Given the description of an element on the screen output the (x, y) to click on. 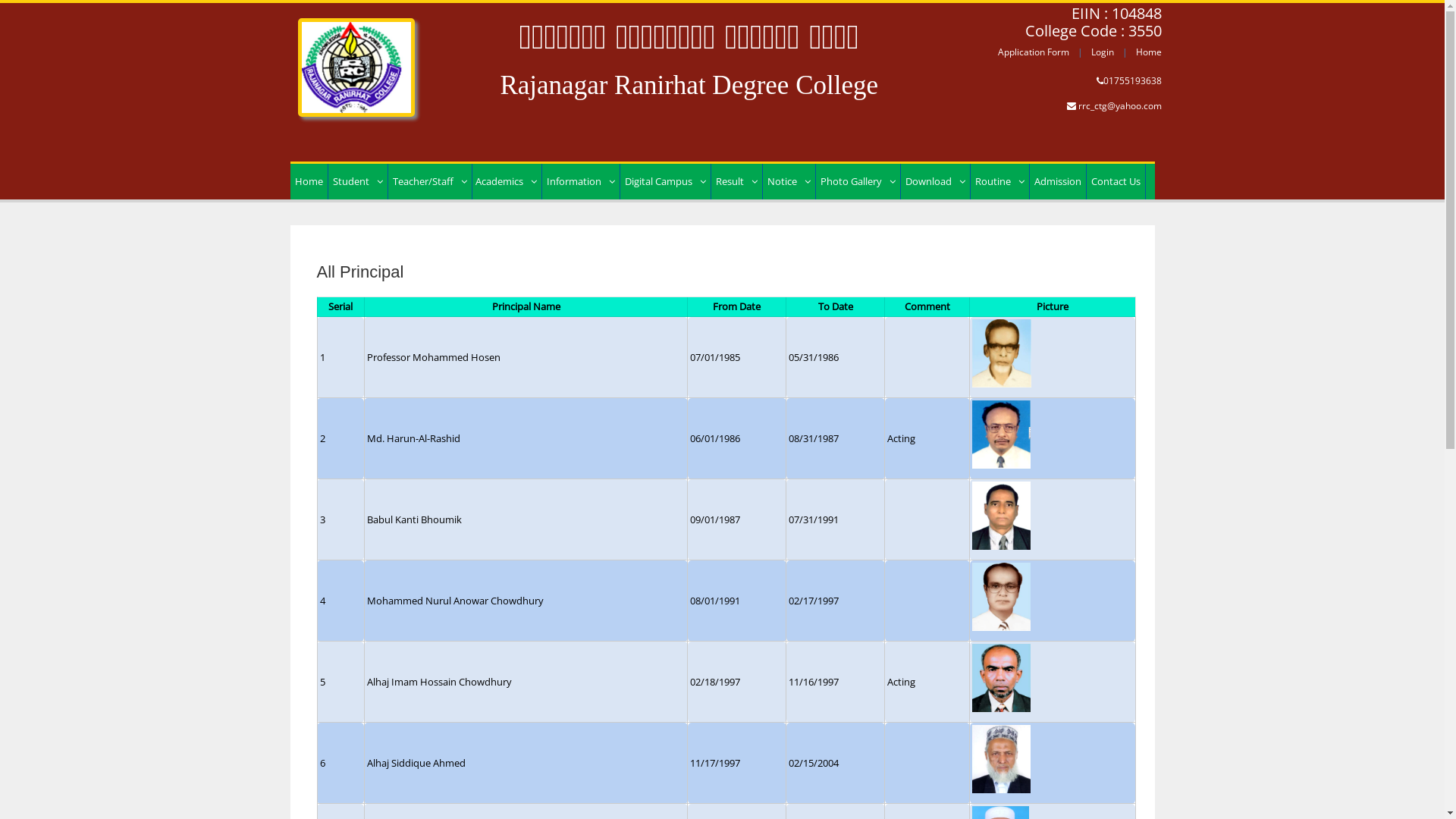
Contact Us Element type: text (1114, 181)
Admission Element type: text (1057, 181)
Notice Element type: text (788, 181)
Information Element type: text (579, 181)
Download Element type: text (934, 181)
Teacher/Staff Element type: text (429, 181)
Routine Element type: text (999, 181)
rrc_ctg@yahoo.com Element type: text (1119, 105)
Digital Campus Element type: text (665, 181)
Academics Element type: text (505, 181)
Home Element type: text (1148, 51)
Home Element type: text (307, 181)
Result Element type: text (736, 181)
Photo Gallery Element type: text (857, 181)
Login Element type: text (1102, 51)
Application Form Element type: text (1033, 51)
Home Element type: hover (356, 58)
Student Element type: text (356, 181)
